Given the description of an element on the screen output the (x, y) to click on. 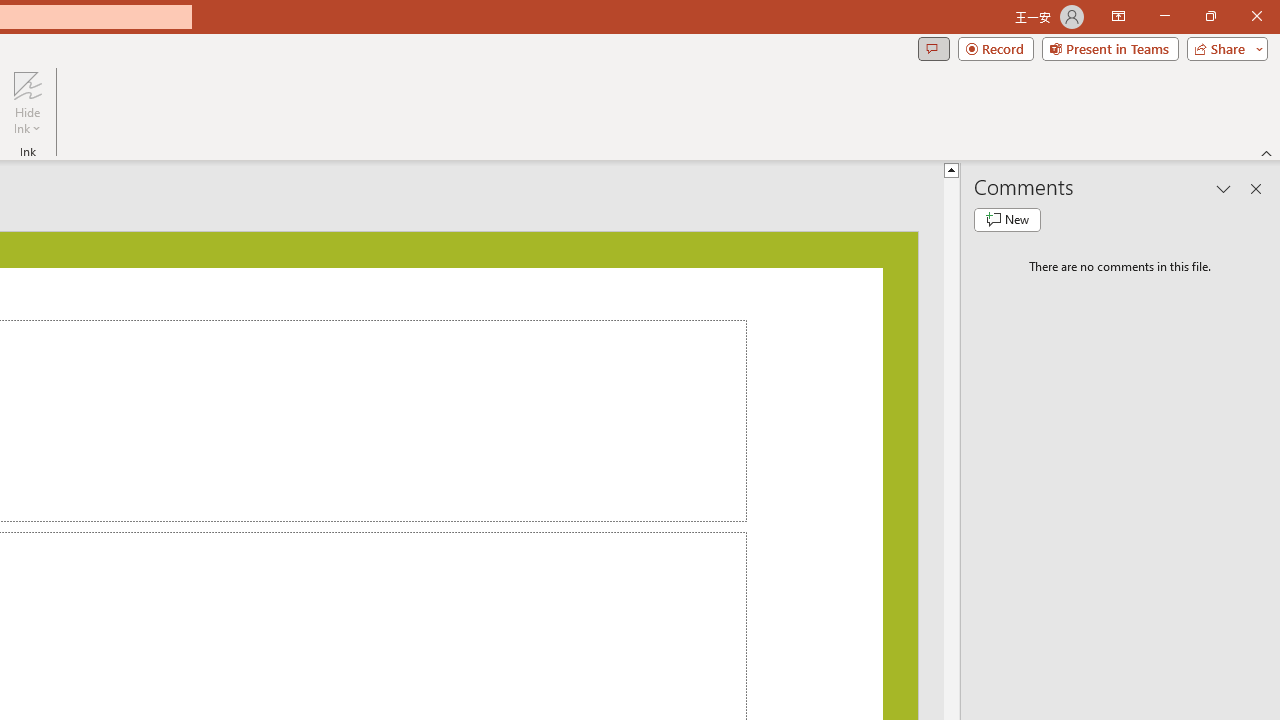
New comment (1007, 219)
